Given the description of an element on the screen output the (x, y) to click on. 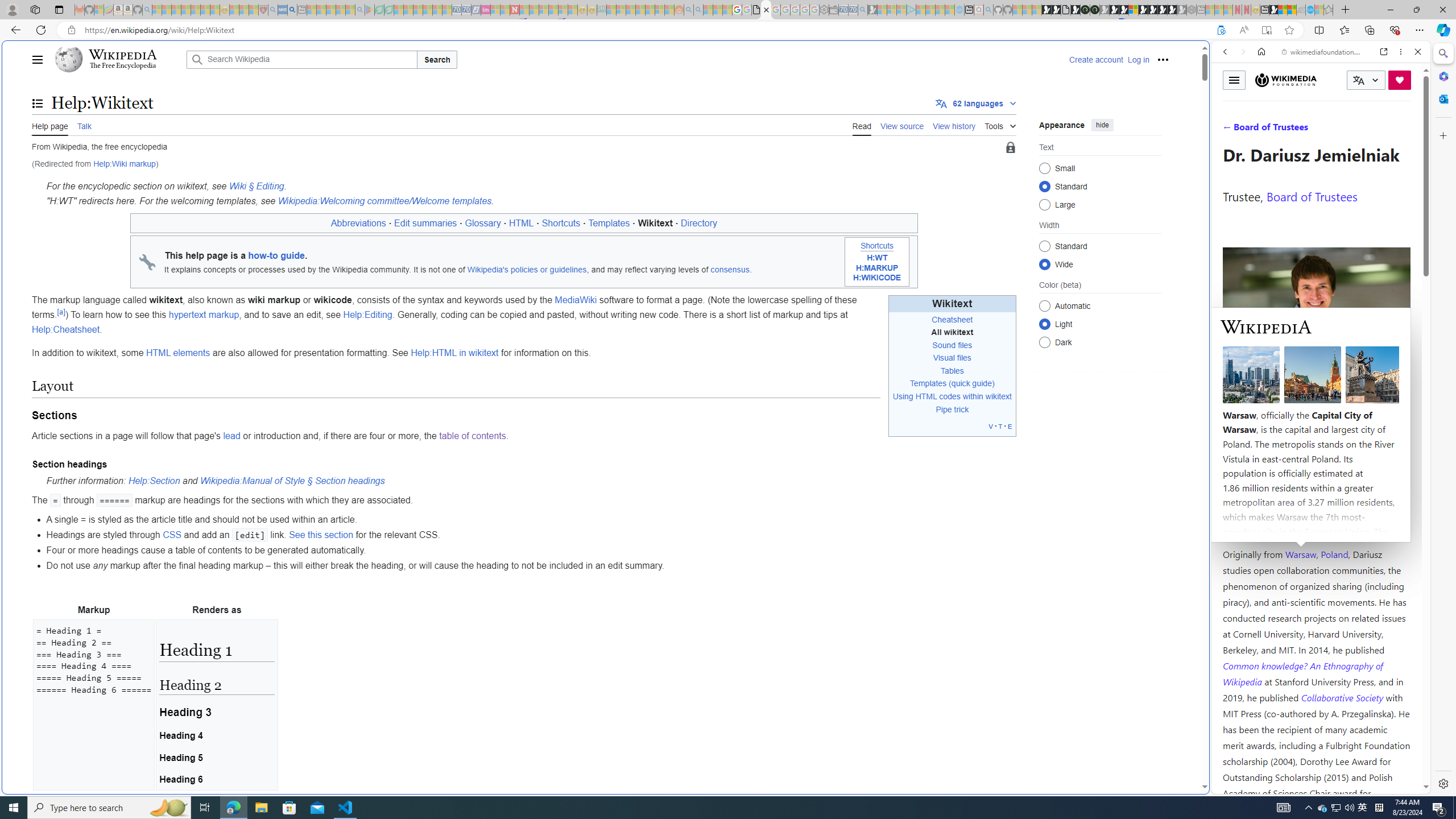
Wikimedia Foundation (1286, 79)
Common knowledge? An Ethnography of Wikipedia (1302, 672)
Tools (1000, 124)
Frequently visited (965, 151)
View history (954, 124)
